Given the description of an element on the screen output the (x, y) to click on. 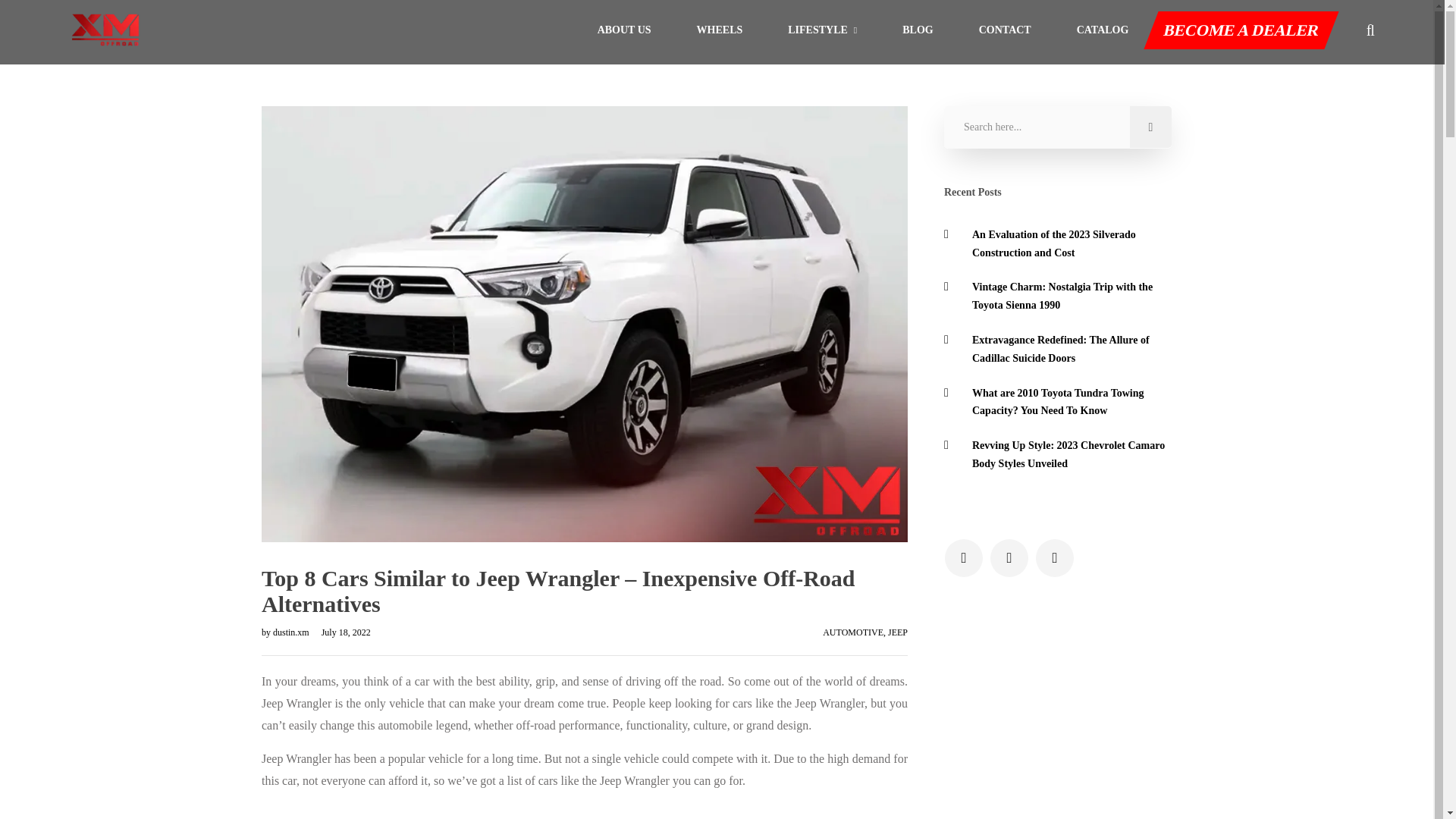
CONTACT (1004, 30)
dustin.xm (292, 632)
ABOUT US (623, 30)
July 18, 2022 (341, 632)
AUTOMOTIVE (852, 632)
JEEP (897, 632)
Search text (1057, 127)
WHEELS (719, 30)
BLOG (917, 30)
LIFESTYLE (822, 30)
